Given the description of an element on the screen output the (x, y) to click on. 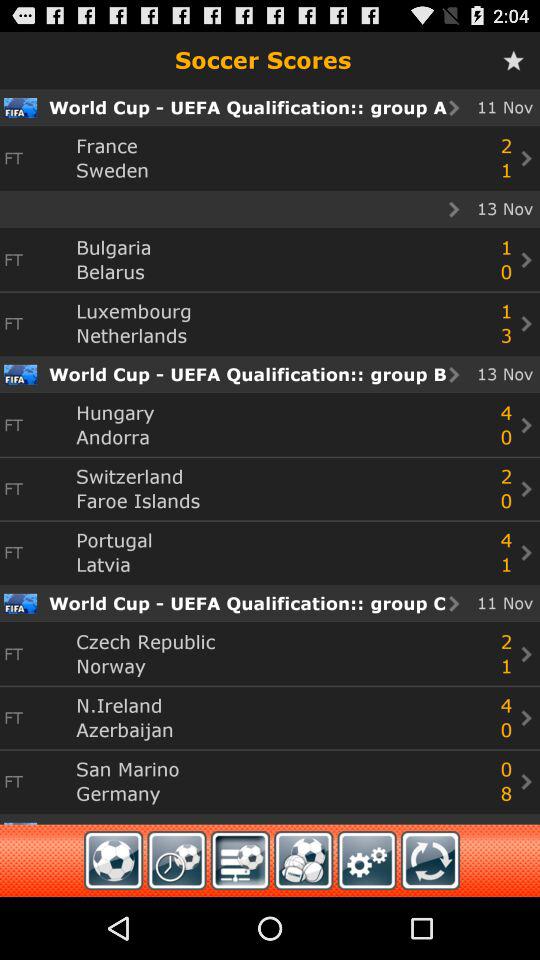
click on next icon which is at bottom right corner of group b (526, 552)
click on the second fifa icon at the left side of the page (20, 374)
